Given the description of an element on the screen output the (x, y) to click on. 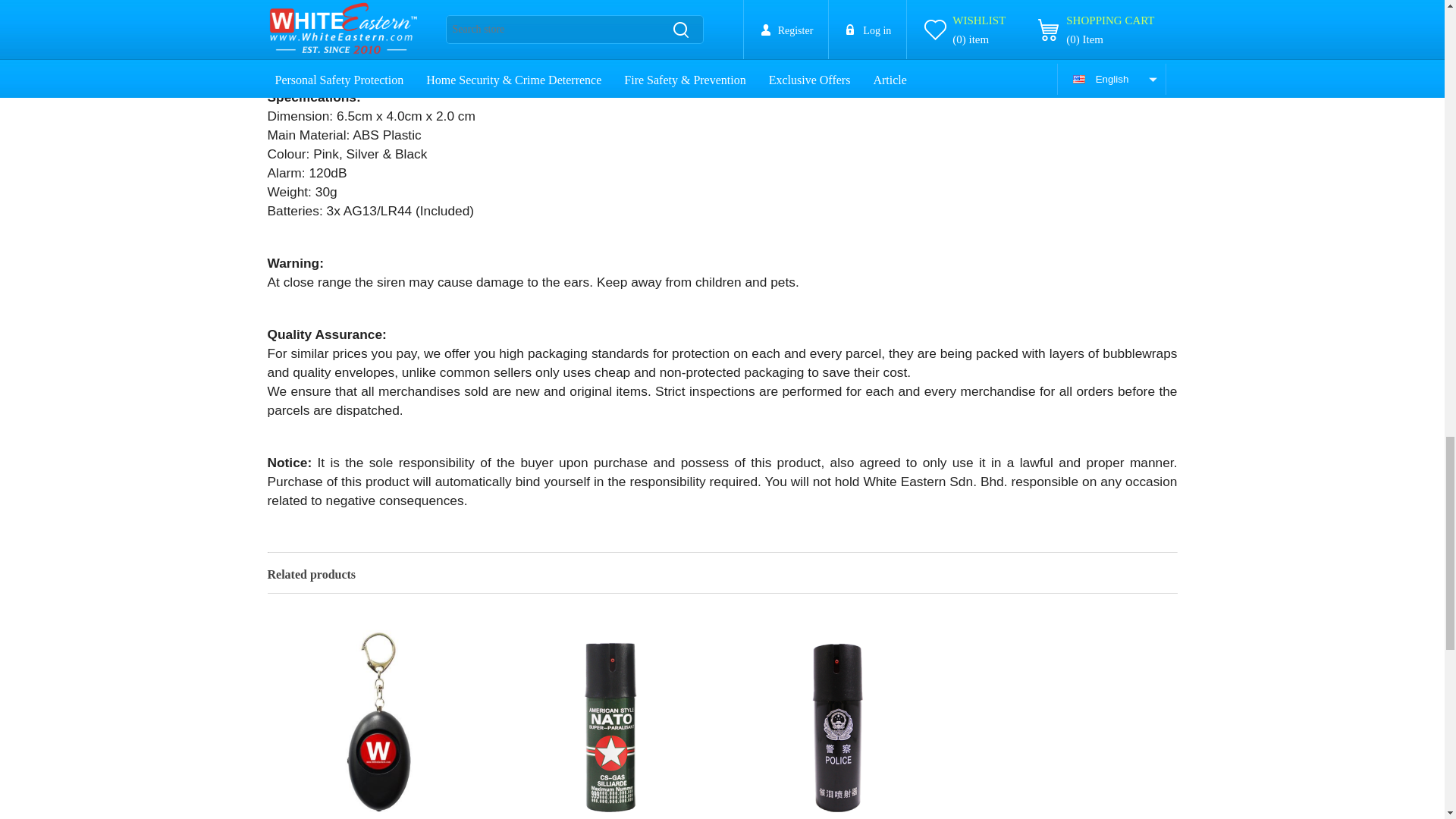
Show details for Ellipse Personal Alarm (379, 717)
